Given the description of an element on the screen output the (x, y) to click on. 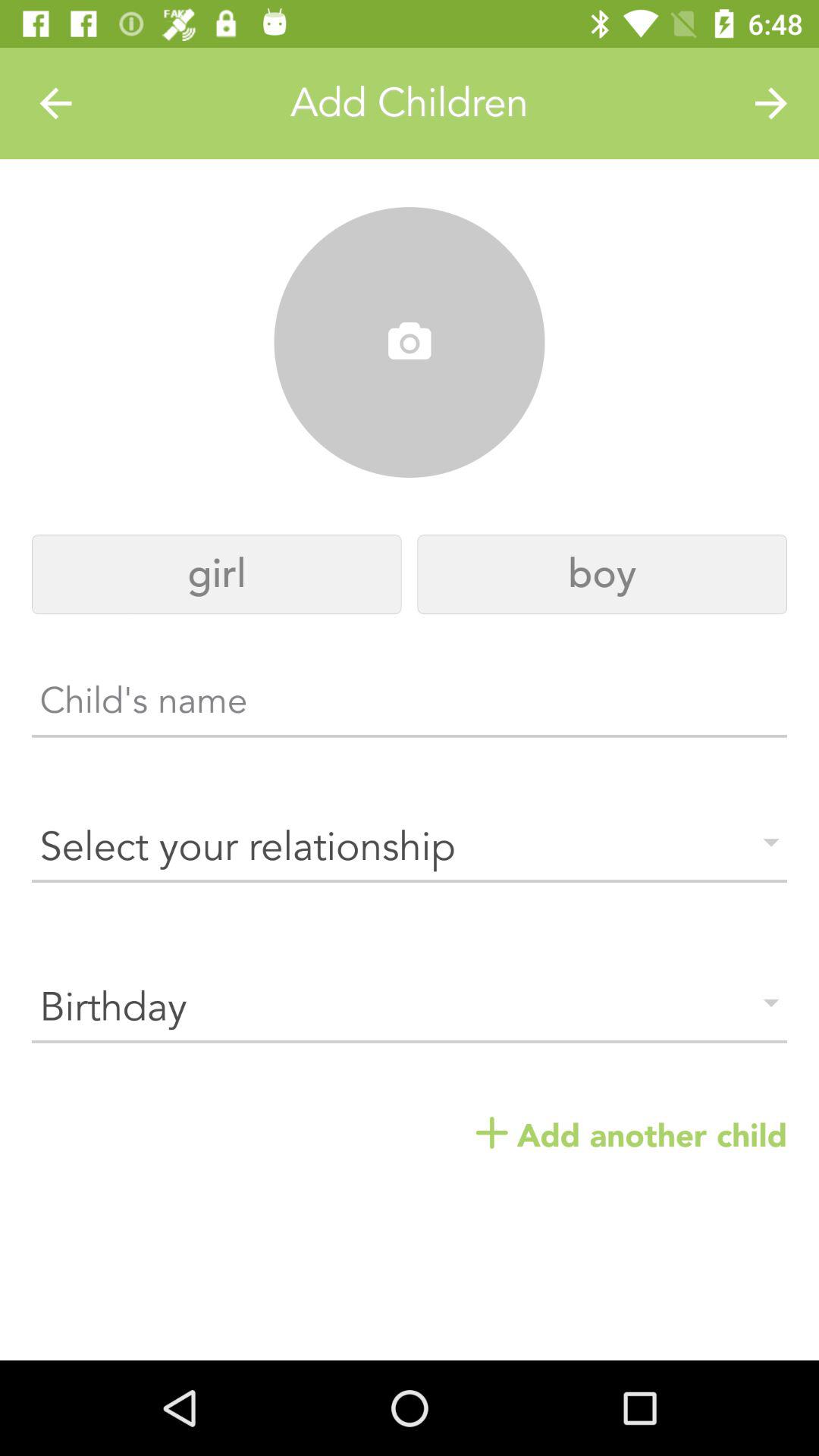
open icon at the top left corner (55, 103)
